Given the description of an element on the screen output the (x, y) to click on. 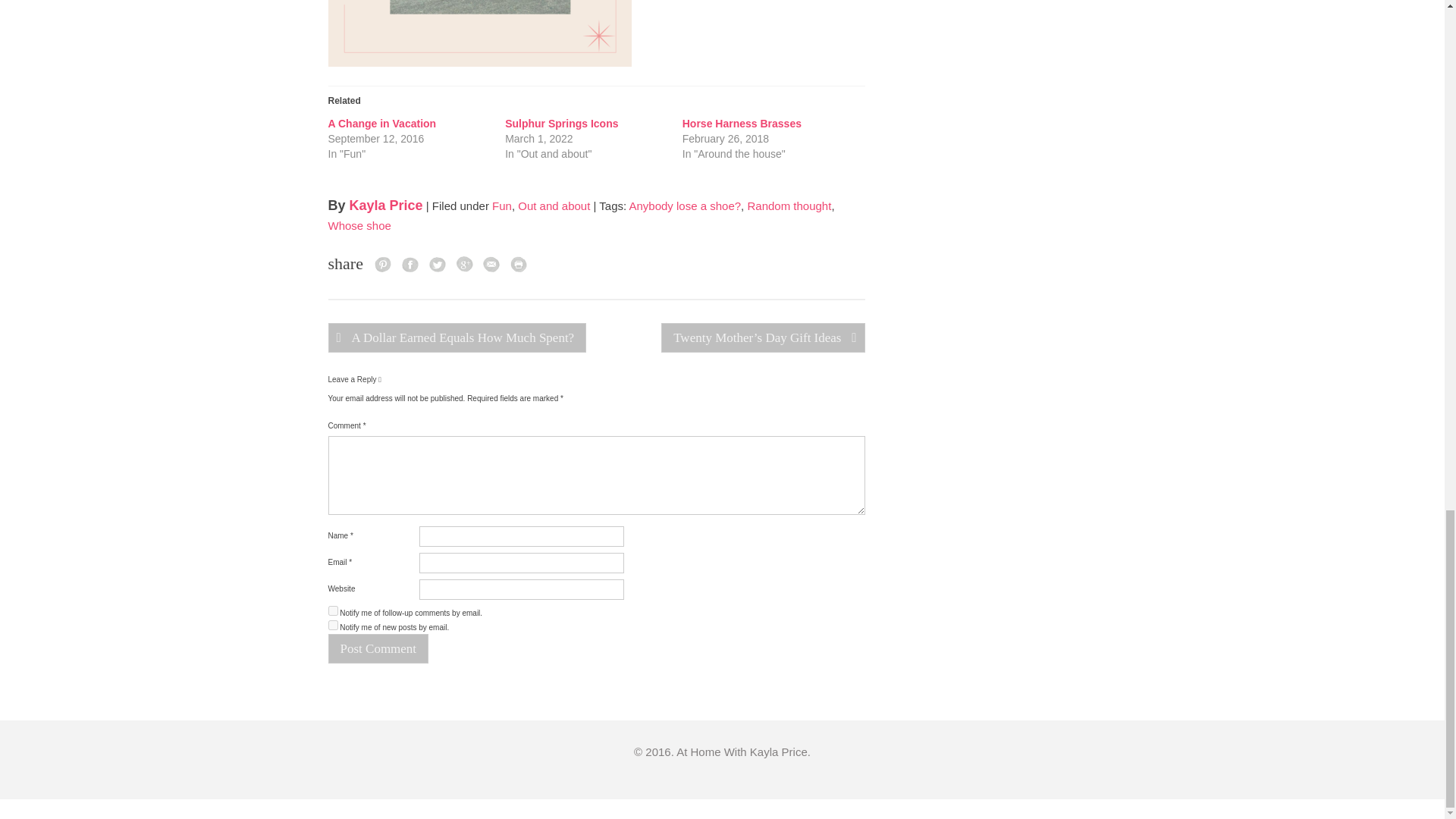
Random thought (788, 205)
Fun (502, 205)
Post Comment (377, 648)
Sulphur Springs Icons (561, 123)
Out and about (553, 205)
A Change in Vacation (381, 123)
A Change in Vacation (381, 123)
Horse Harness Brasses (742, 123)
Horse Harness Brasses (742, 123)
subscribe (332, 610)
Whose shoe (358, 225)
Post Comment (377, 648)
Anybody lose a shoe? (684, 205)
subscribe (332, 624)
Sulphur Springs Icons (561, 123)
